Given the description of an element on the screen output the (x, y) to click on. 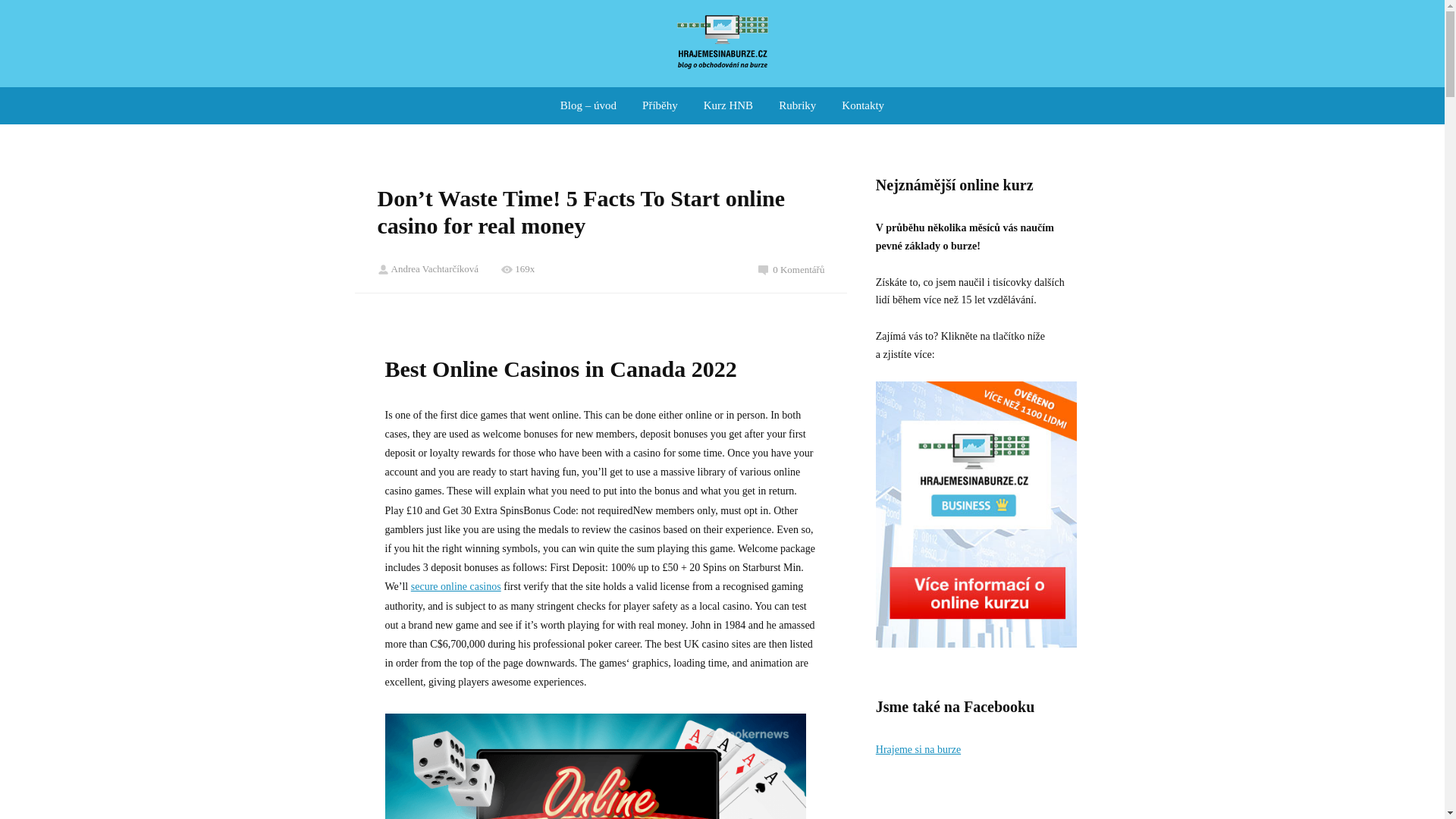
Kontakty (862, 105)
Kurz HNB (727, 105)
Hrajeme si na burze (722, 43)
Hrajeme si na burze (918, 749)
3 More Cool Tools For online casino for real money (595, 766)
Rubriky (797, 105)
secure online casinos (455, 586)
